Given the description of an element on the screen output the (x, y) to click on. 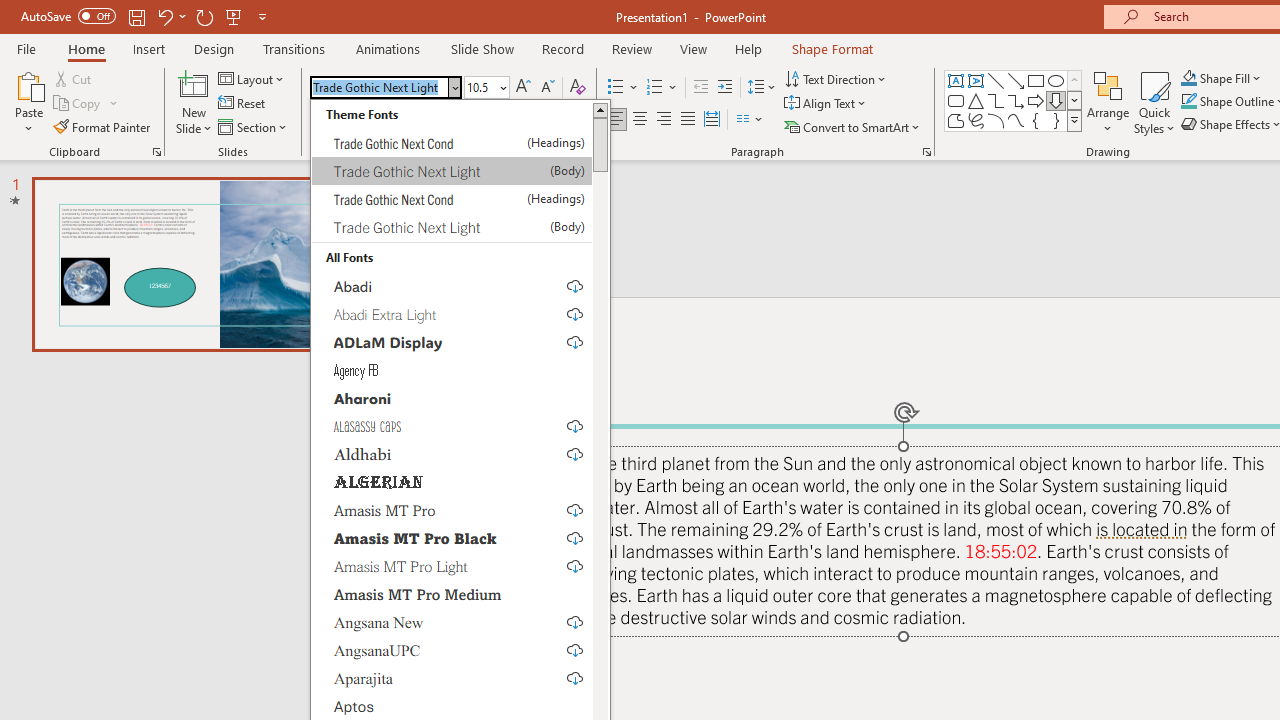
Paste (28, 84)
Decrease Indent (700, 87)
Trade Gothic Next Cond (Headings) (451, 199)
Section (254, 126)
Layout (252, 78)
Connector: Elbow (995, 100)
Convert to SmartArt (853, 126)
Numbering (661, 87)
Font (379, 87)
Font Color Red (562, 119)
Clear Formatting (577, 87)
More Options (1232, 78)
Font Size (480, 87)
New Slide (193, 84)
